Given the description of an element on the screen output the (x, y) to click on. 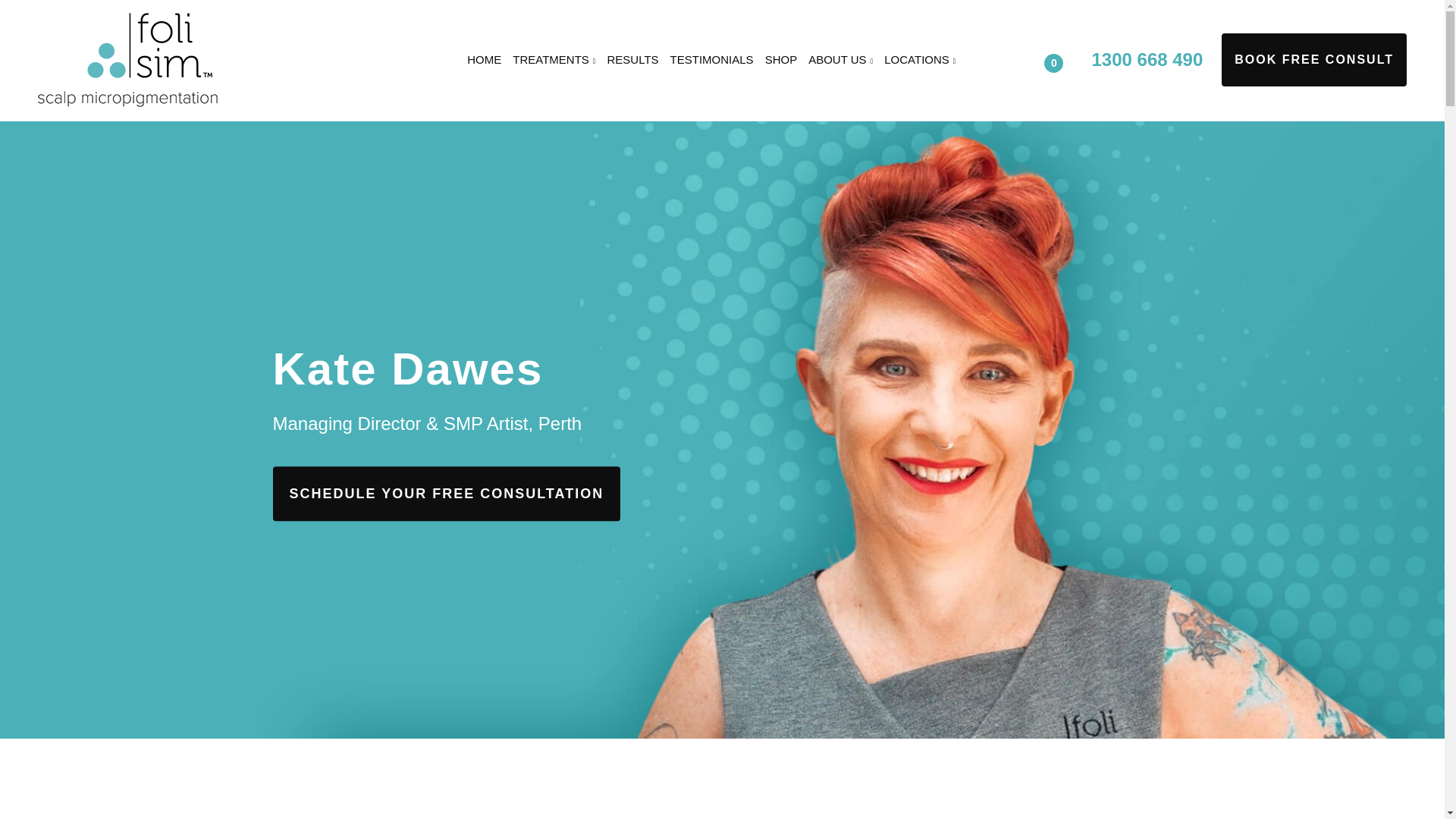
SCHEDULE YOUR FREE CONSULTATION (447, 493)
1300 668 490 (1146, 59)
BOOK FREE CONSULT (1313, 59)
0 (1066, 58)
